Given the description of an element on the screen output the (x, y) to click on. 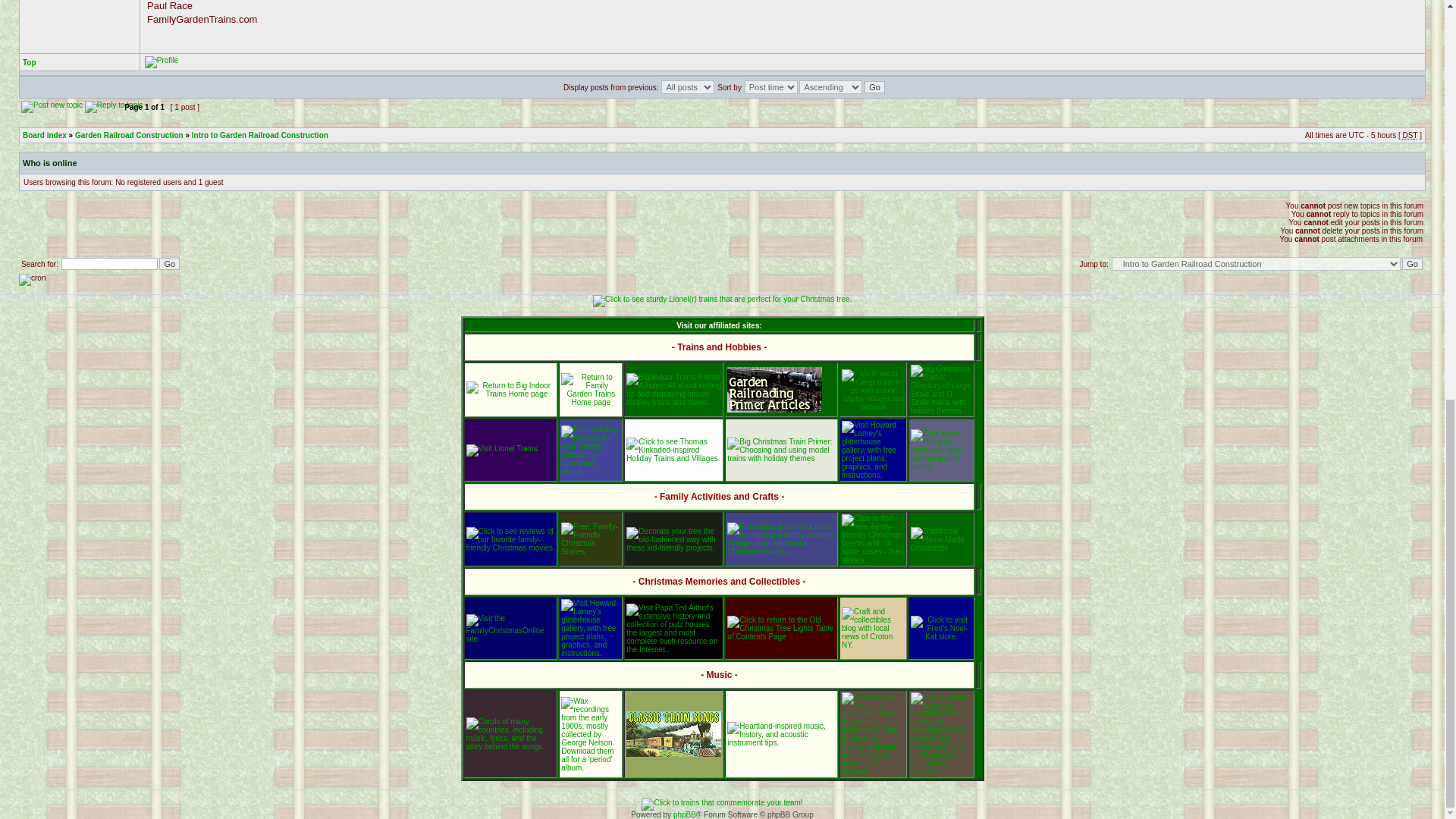
Reply to topic (113, 106)
Go (168, 263)
Post new topic (51, 106)
Go (1412, 263)
Profile (160, 61)
Go (874, 87)
Board index (44, 135)
Go (874, 87)
Garden Railroad Construction (129, 135)
Go (1412, 263)
